Given the description of an element on the screen output the (x, y) to click on. 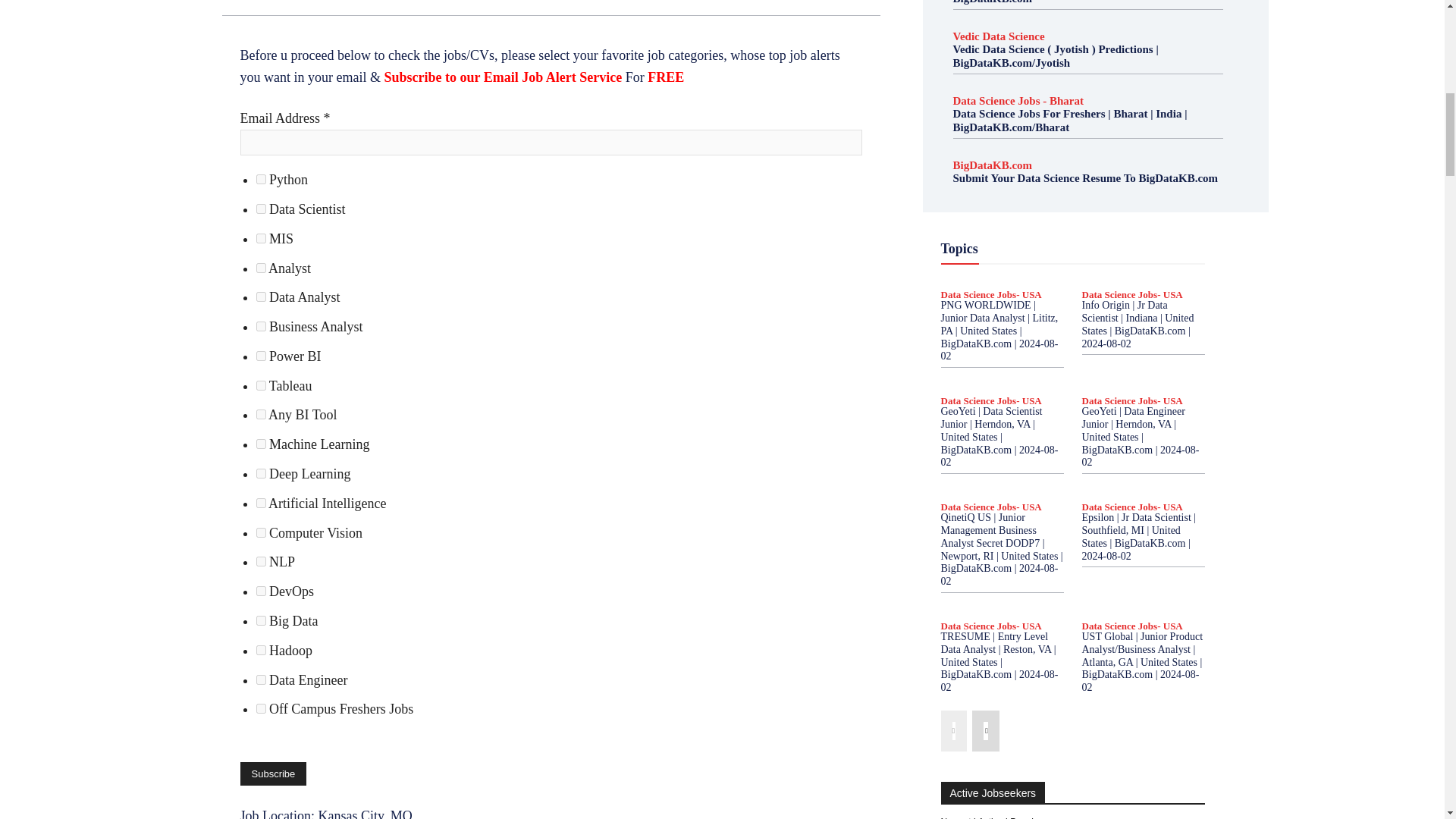
Admin (253, 0)
256 (261, 414)
262144 (261, 708)
4 (261, 208)
128 (261, 385)
1 (261, 179)
32 (261, 326)
16384 (261, 591)
8 (261, 266)
1024 (261, 473)
